Given the description of an element on the screen output the (x, y) to click on. 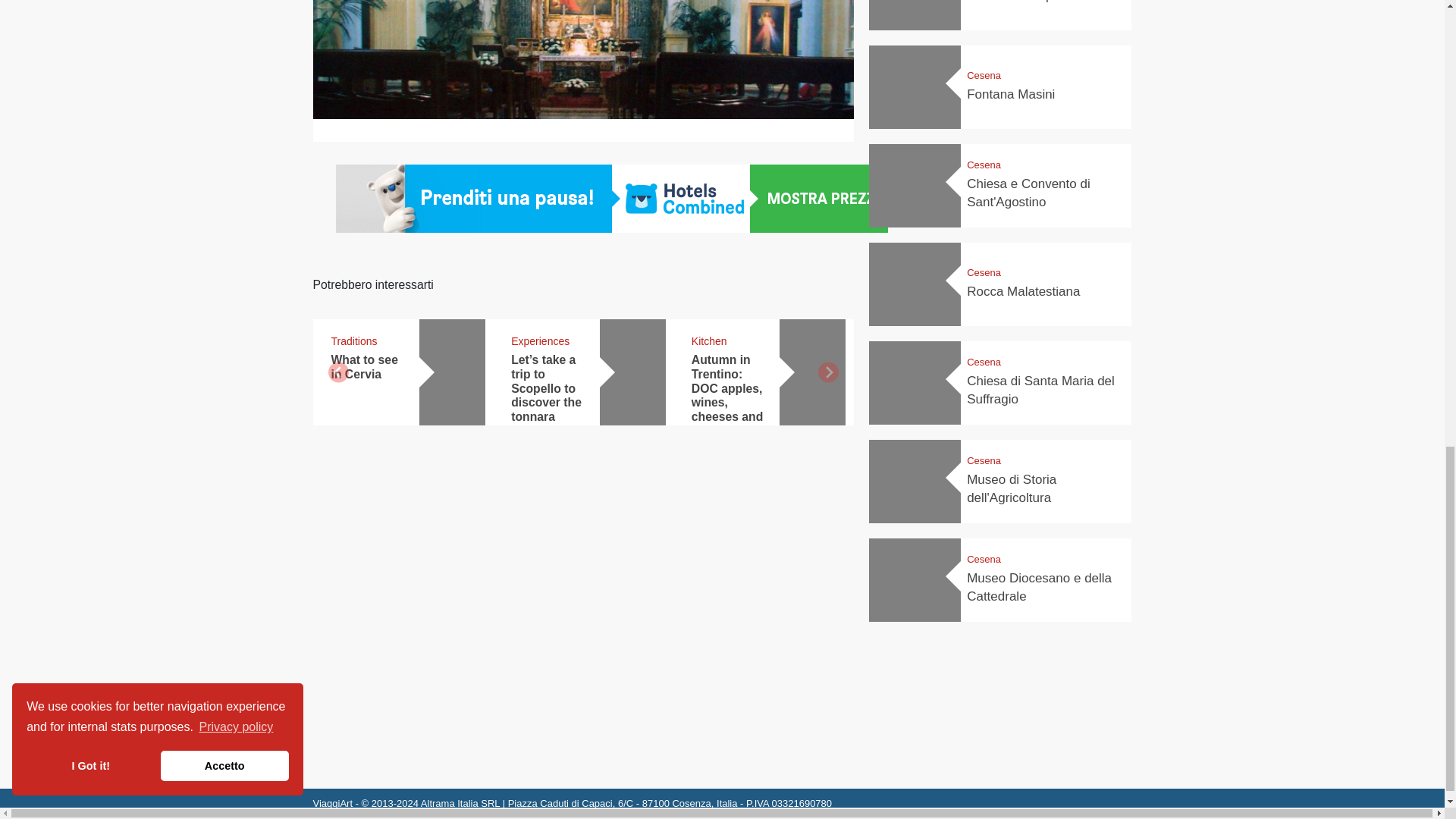
Risparmia sul tuo hotel - hotelscombined.it (610, 198)
